Given the description of an element on the screen output the (x, y) to click on. 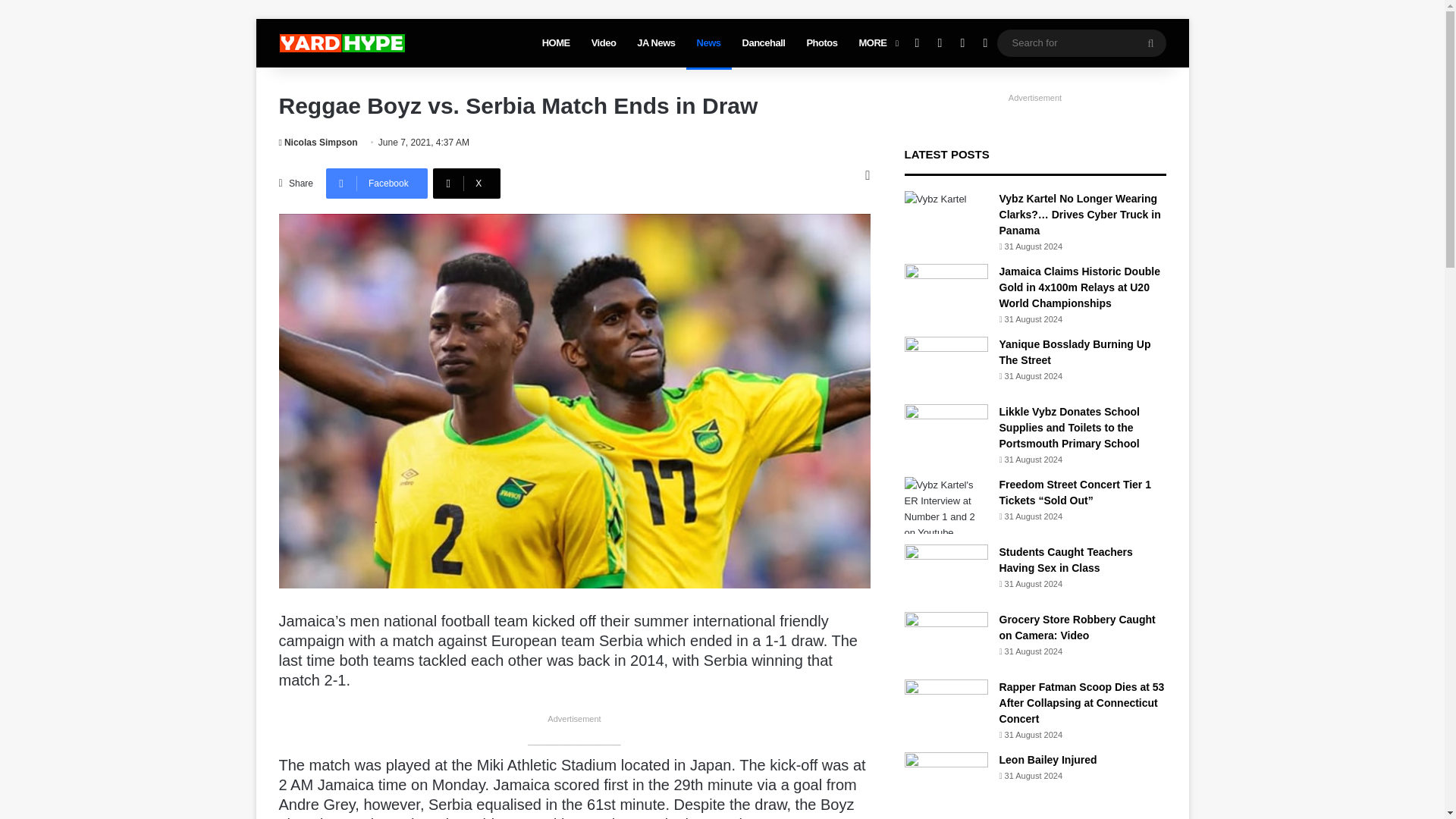
YARDHYPE (341, 43)
News (708, 42)
JA News (655, 42)
X (466, 183)
MORE (876, 42)
Video (603, 42)
HOME (555, 42)
Nicolas Simpson (318, 142)
Dancehall (764, 42)
Nicolas Simpson (318, 142)
